Given the description of an element on the screen output the (x, y) to click on. 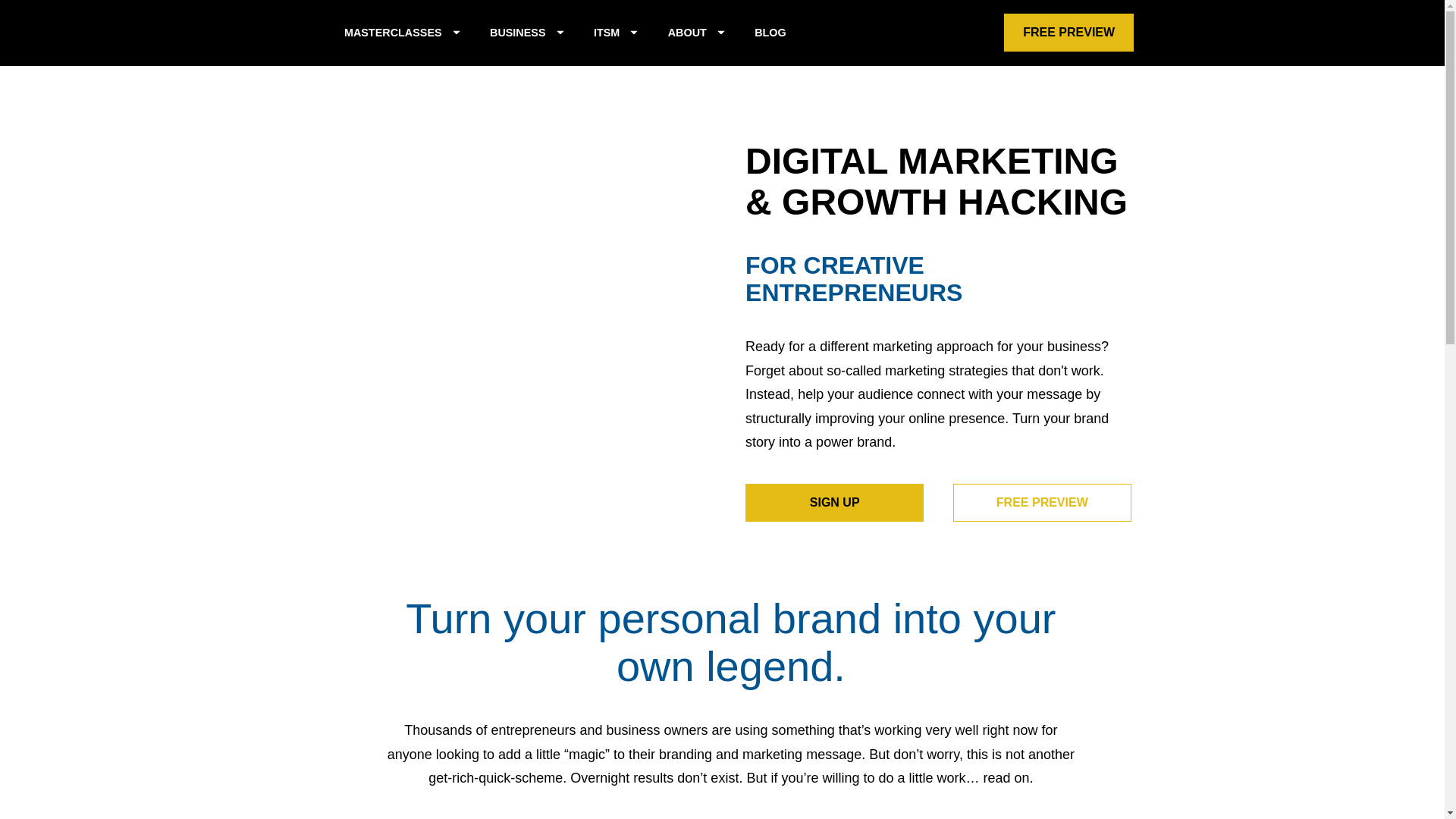
ABOUT (696, 33)
MASTERCLASSES (401, 33)
BUSINESS (526, 33)
FREE PREVIEW (1069, 32)
ITSM (615, 33)
